Given the description of an element on the screen output the (x, y) to click on. 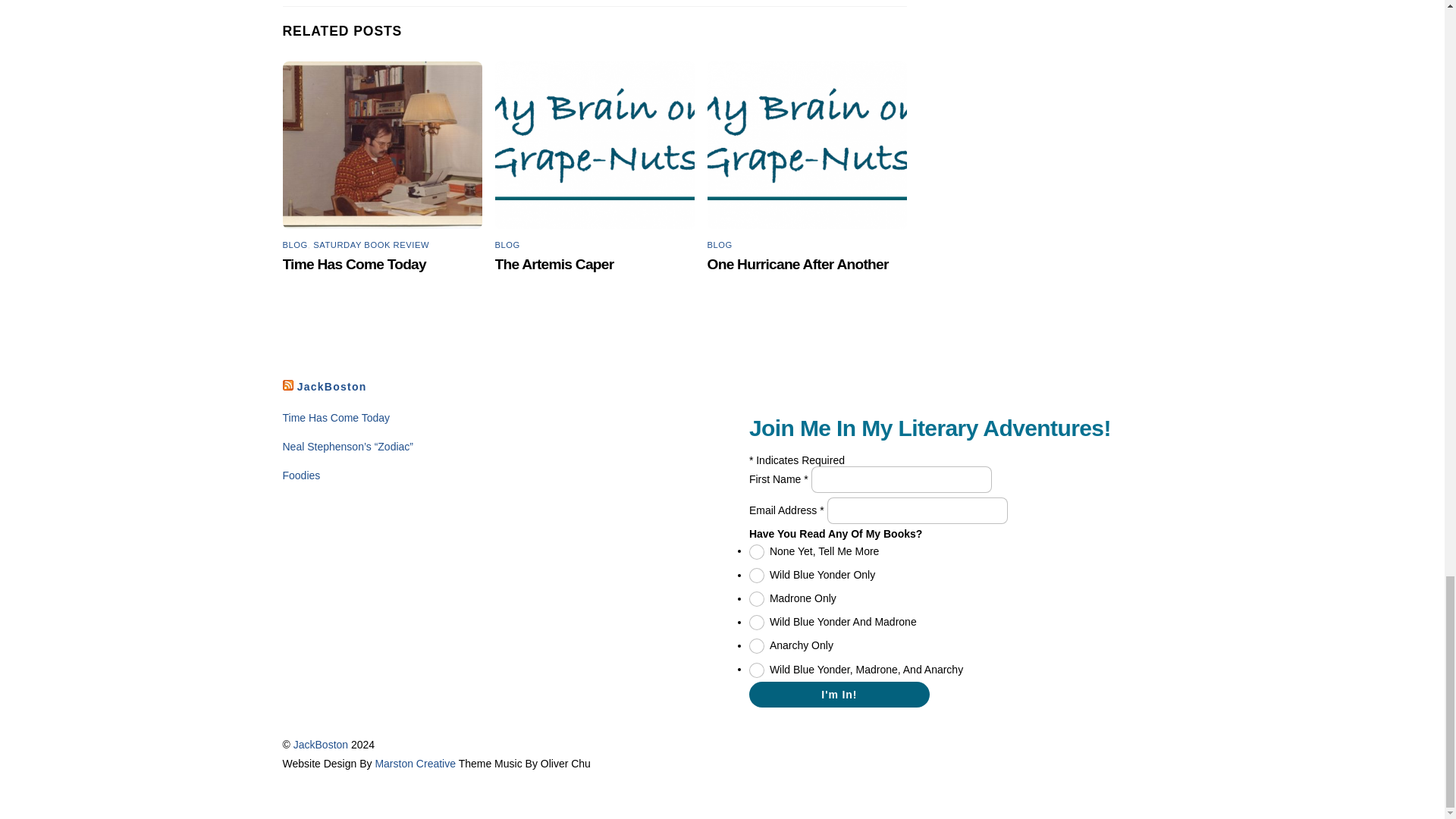
JackBoston (331, 386)
Jack at typewriter 1973 (381, 145)
BLOG (507, 244)
USE my-brain-on-grape-nuts-jack-boston (807, 145)
I'm in! (839, 694)
JackBoston (320, 744)
1 (756, 551)
Marston Creative (414, 763)
I'm in! (839, 694)
2 (756, 575)
8 (756, 622)
The Artemis Caper (554, 263)
Foodies (301, 475)
Time Has Come Today (336, 417)
One Hurricane After Another (797, 263)
